Given the description of an element on the screen output the (x, y) to click on. 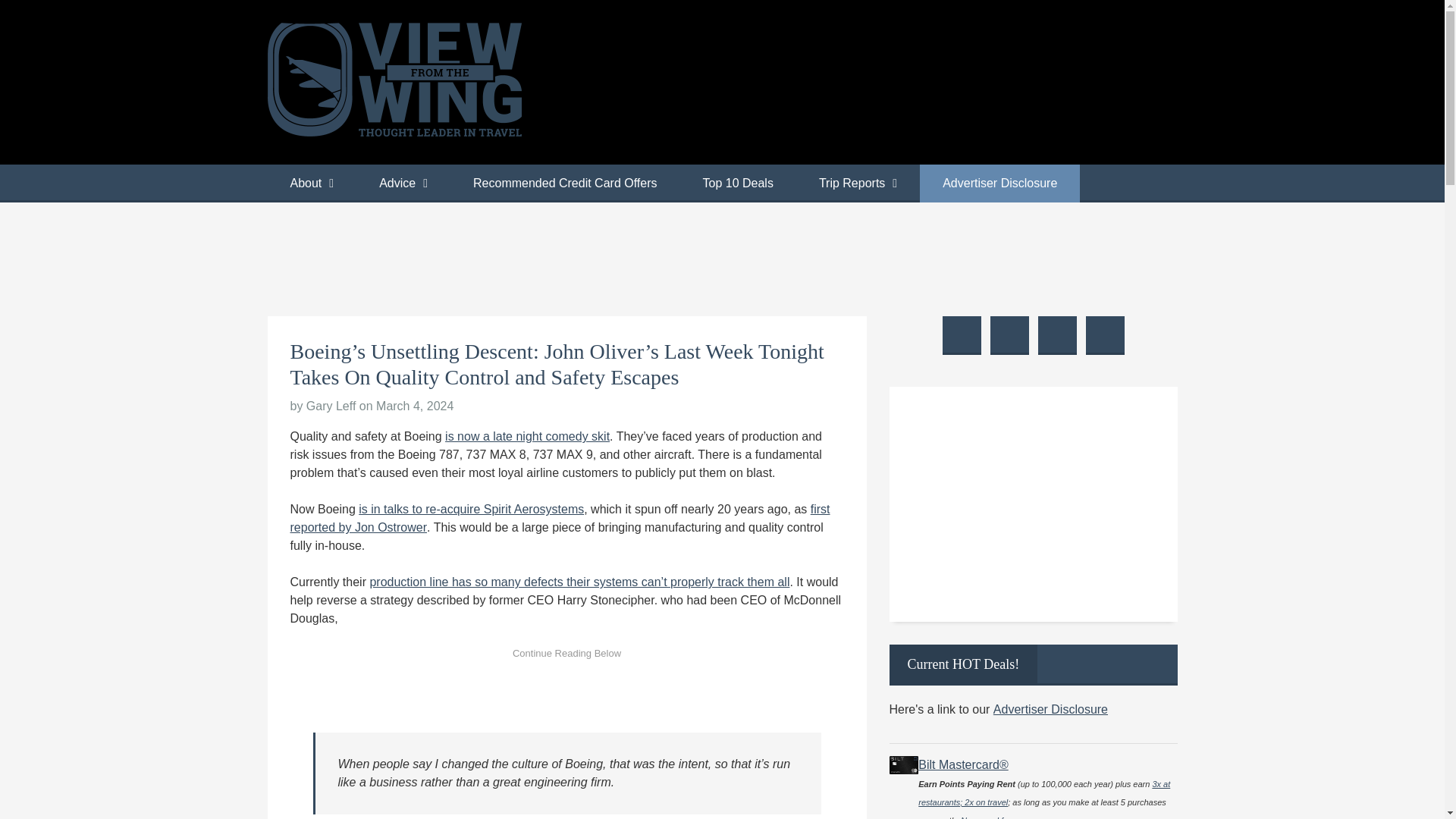
Recommended Credit Card Offers (564, 183)
is in talks to re-acquire Spirit Aerosystems (470, 508)
Advice (402, 183)
Gary Leff (330, 405)
Advertiser Disclosure (1000, 183)
Top 10 Deals (736, 183)
first reported by Jon Ostrower (559, 517)
Trip Reports (858, 183)
is now a late night comedy skit (527, 436)
About (311, 183)
